Given the description of an element on the screen output the (x, y) to click on. 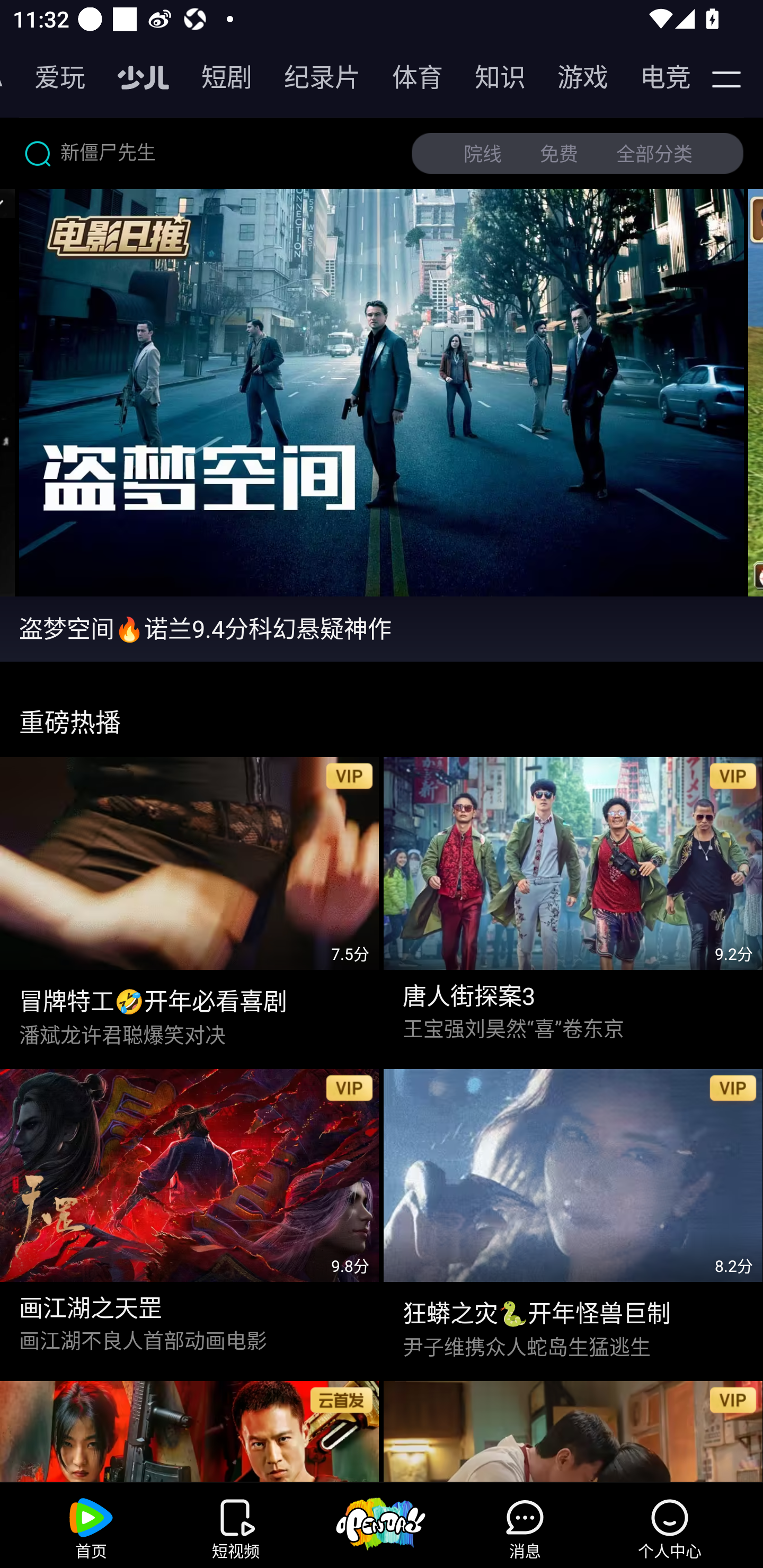
爱玩 (50, 77)
少儿 (133, 77)
短剧 (217, 77)
纪录片 (312, 77)
体育 (408, 77)
知识 (490, 77)
游戏 (572, 77)
电竞 (652, 77)
新僵尸先生 (207, 152)
院线 (482, 153)
免费 (559, 153)
全部分类 (654, 153)
盗梦空间🔥诺兰9.4分科幻悬疑神作 盗梦空间🔥诺兰9.4分科幻悬疑神作，链接 (381, 628)
重磅热播 (381, 713)
冒牌特工🤣开年必看喜剧,7.5分,链接 冒牌特工🤣开年必看喜剧 潘斌龙许君聪爆笑对决 (189, 903)
唐人街探案3,9.2分,链接 唐人街探案3 王宝强刘昊然“喜”卷东京 (572, 903)
画江湖之天罡,9.8分,链接 画江湖之天罡 画江湖不良人首部动画电影 (189, 1215)
狂蟒之灾🐍开年怪兽巨制,8.2分,链接 狂蟒之灾🐍开年怪兽巨制 尹子维携众人蛇岛生猛逃生 (572, 1215)
